Given the description of an element on the screen output the (x, y) to click on. 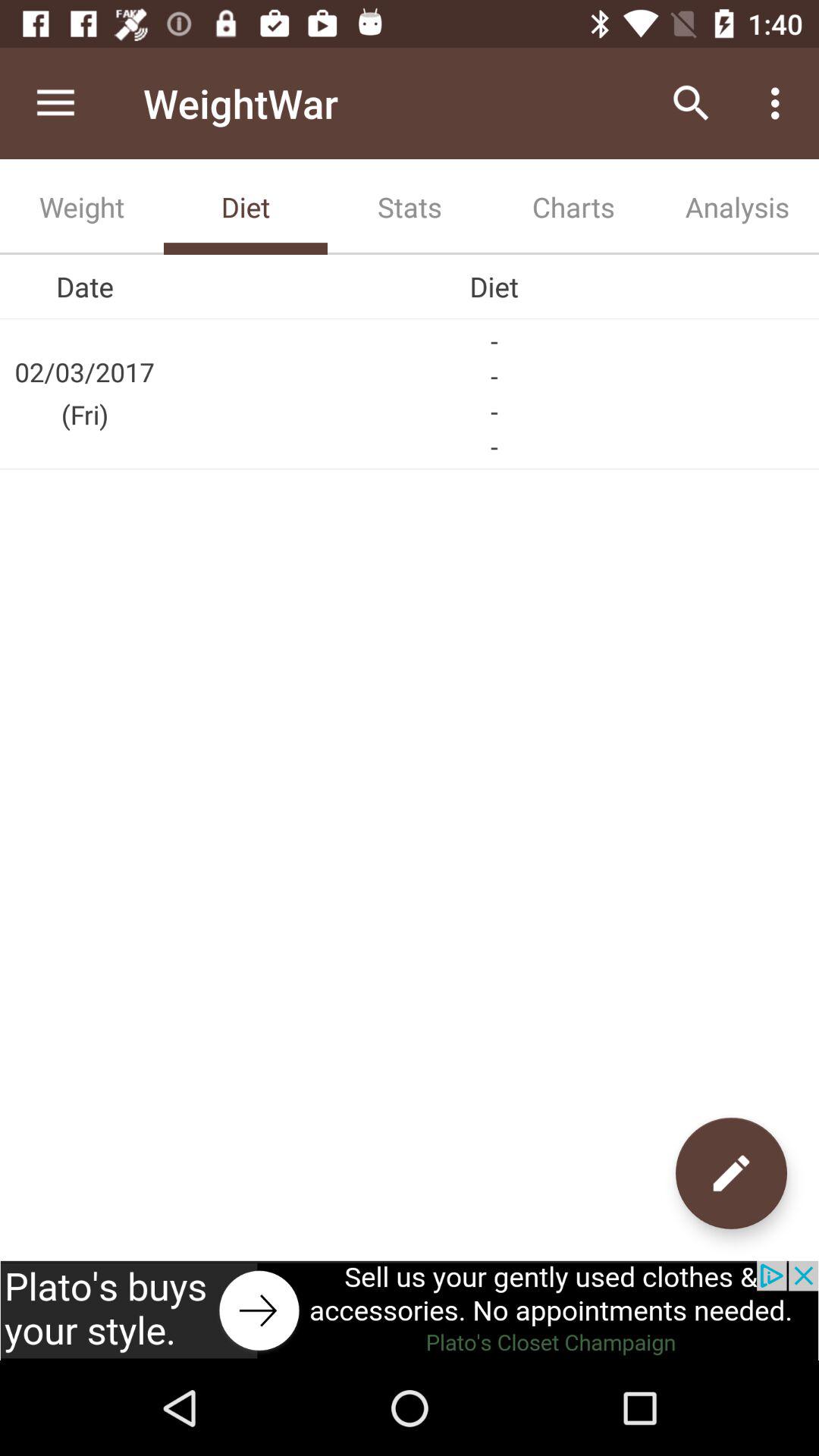
select the tab next to diet (409, 206)
